Given the description of an element on the screen output the (x, y) to click on. 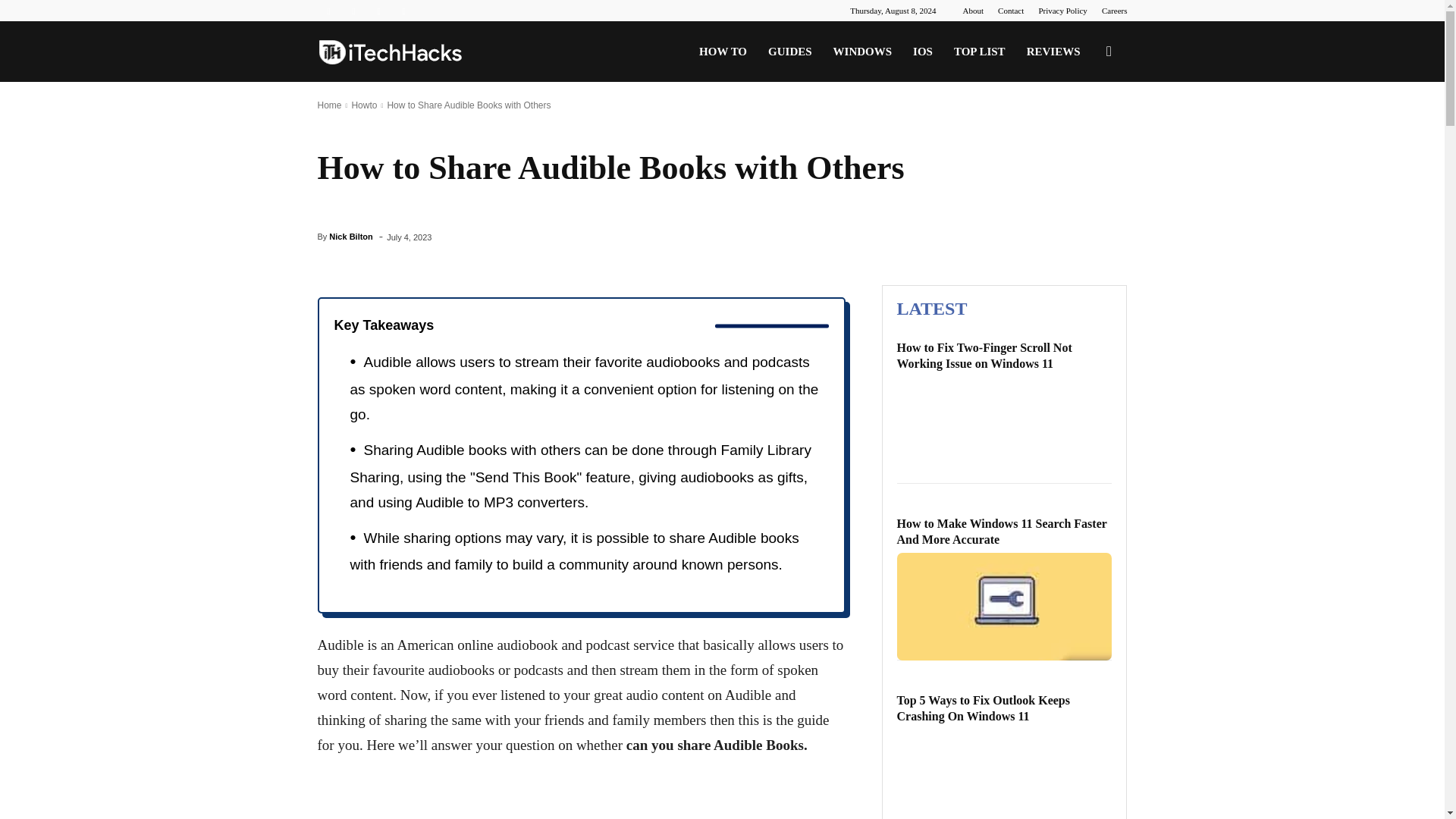
Search (1085, 124)
WINDOWS (862, 51)
Careers (1114, 10)
iTech Hacks (390, 51)
View all posts in Howto (363, 104)
Youtube (403, 10)
About (973, 10)
Pinterest (353, 10)
GUIDES (789, 51)
Facebook (328, 10)
